Given the description of an element on the screen output the (x, y) to click on. 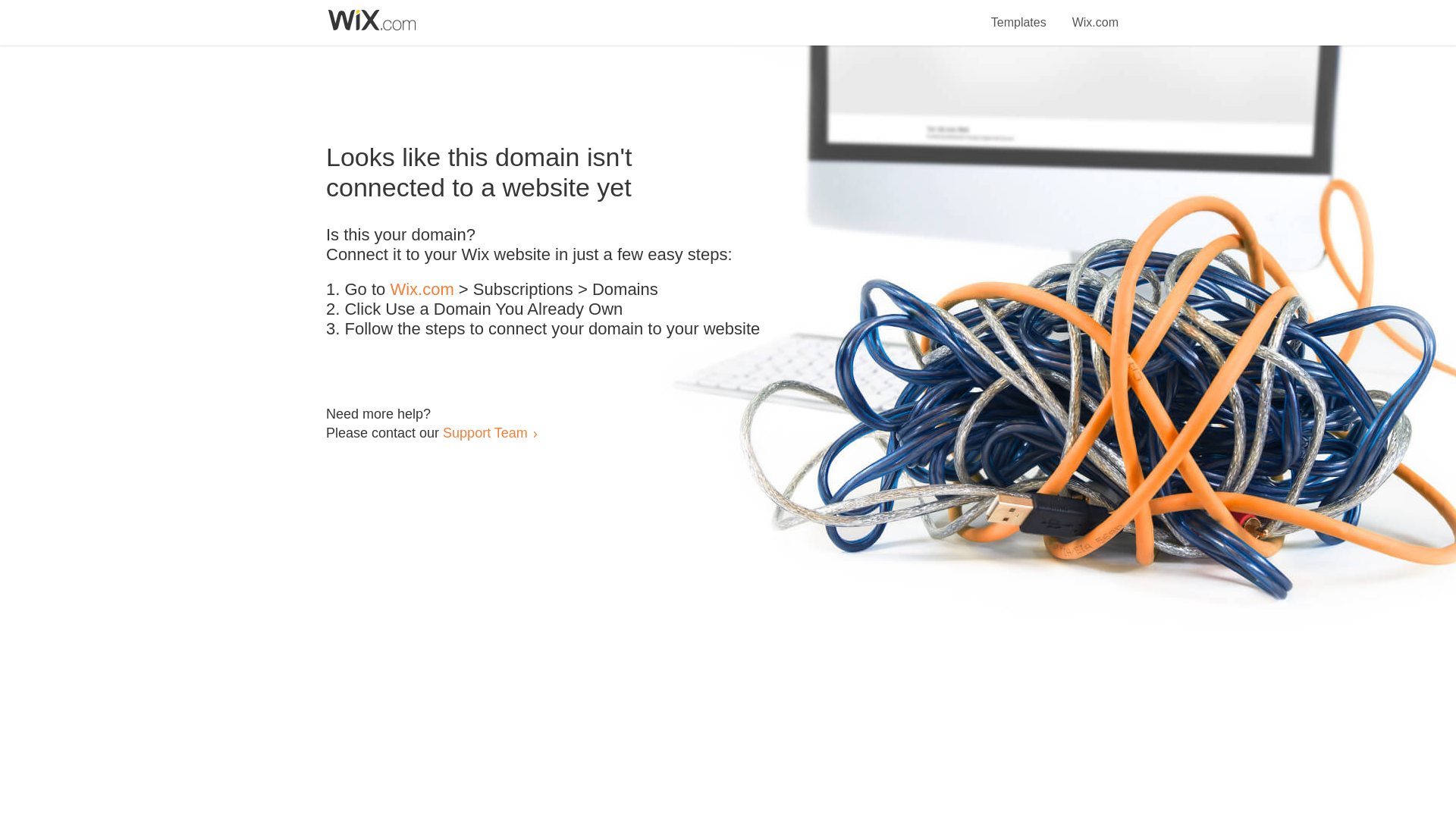
Wix.com (1095, 14)
Support Team (484, 432)
Wix.com (421, 289)
Templates (1018, 14)
